Given the description of an element on the screen output the (x, y) to click on. 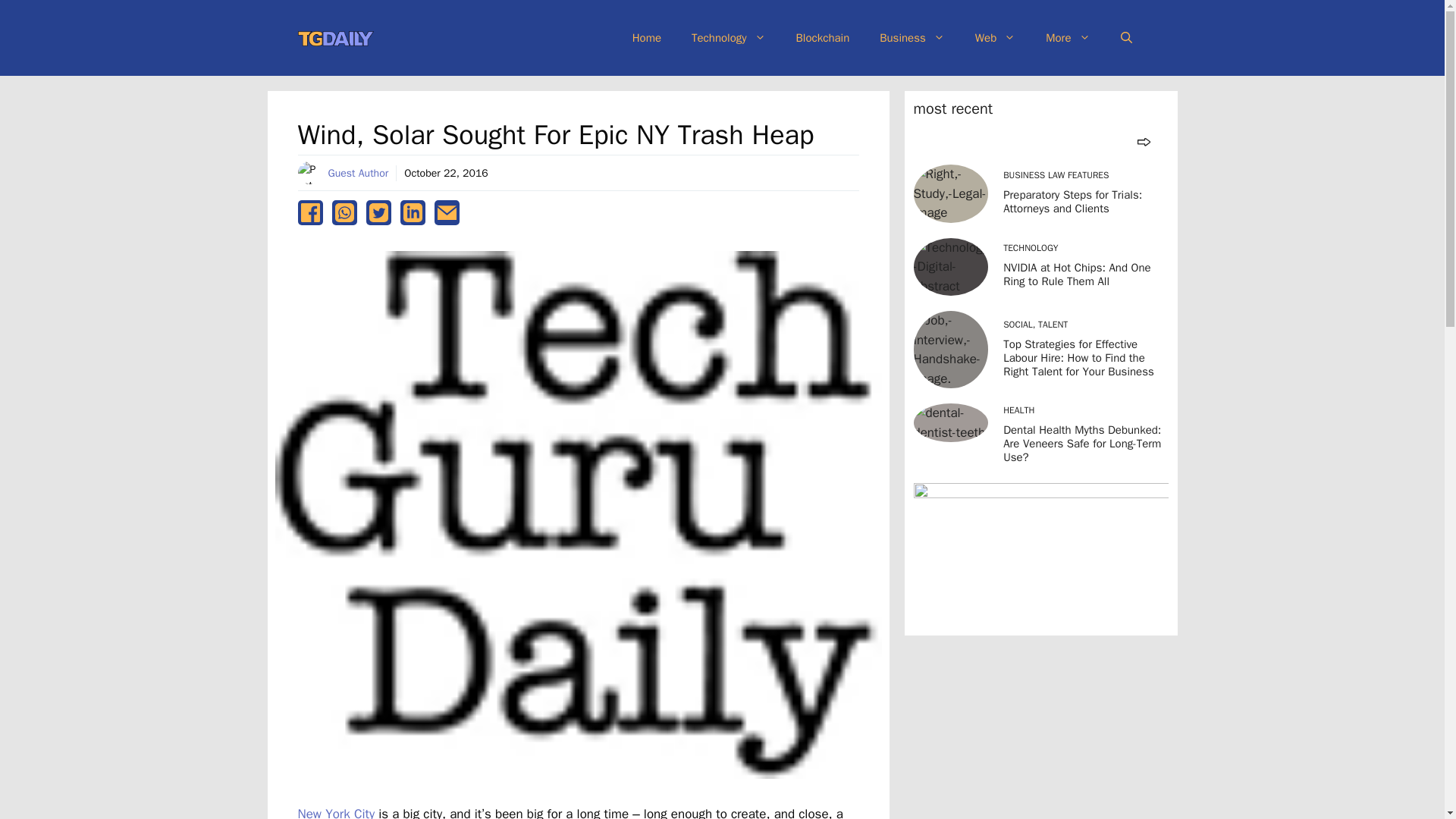
More (1067, 37)
Blockchain (822, 37)
Technology (728, 37)
Home (647, 37)
Business (911, 37)
Web (994, 37)
purple-600x400-1 (1039, 554)
